Given the description of an element on the screen output the (x, y) to click on. 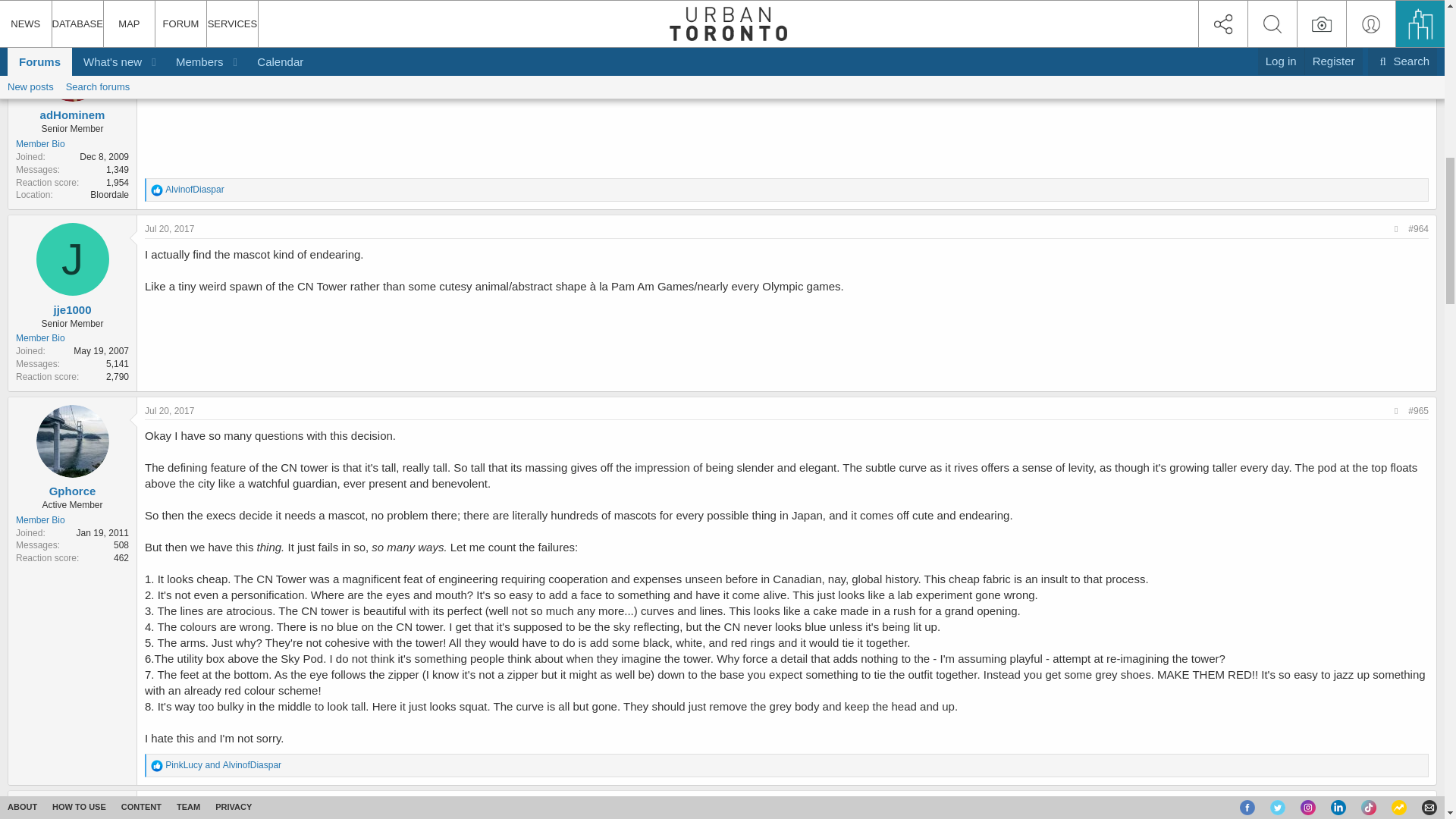
Jul 20, 2017 at 12:43 PM (168, 34)
Like (157, 190)
